Given the description of an element on the screen output the (x, y) to click on. 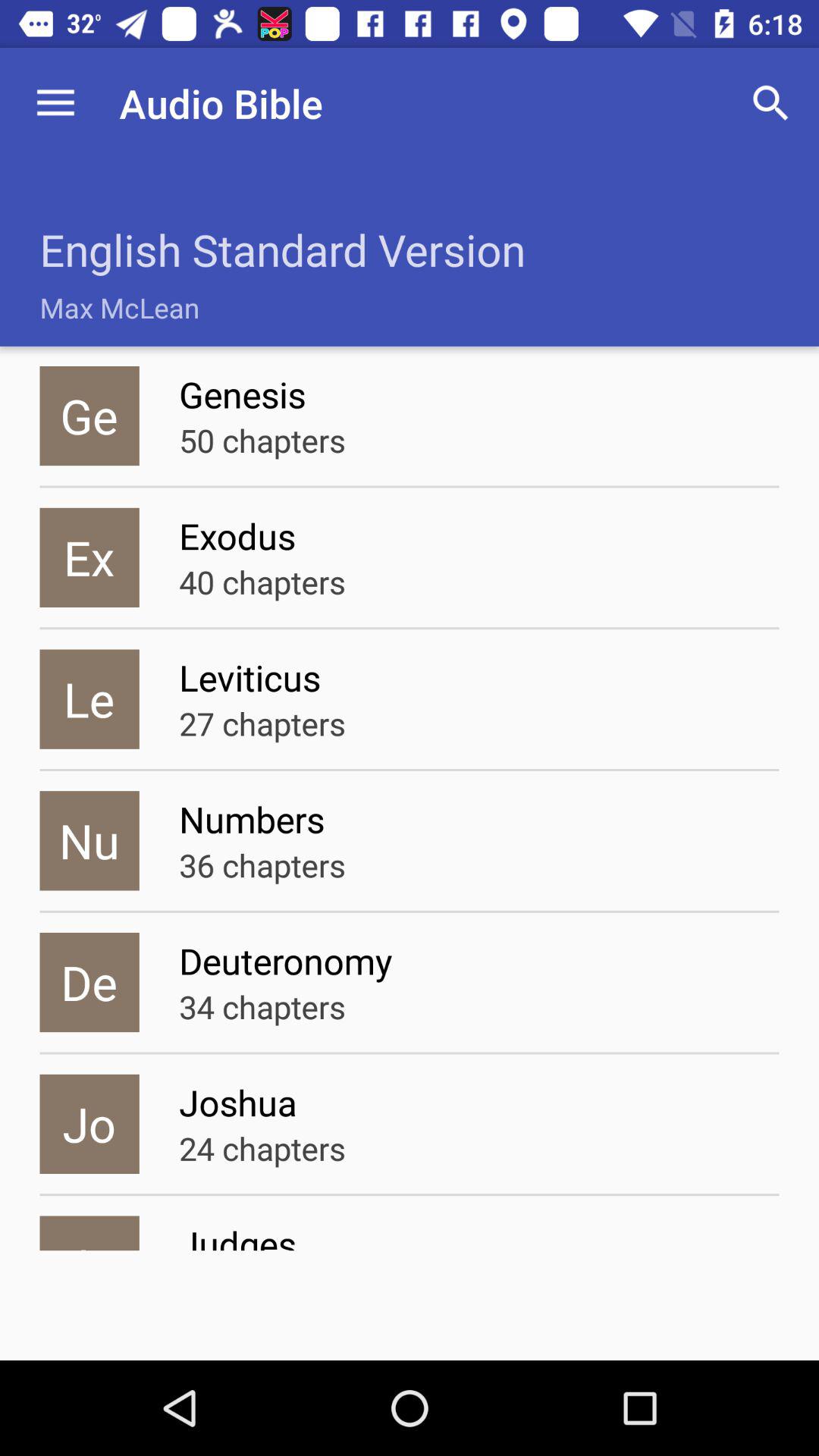
click icon below exodus item (262, 581)
